Given the description of an element on the screen output the (x, y) to click on. 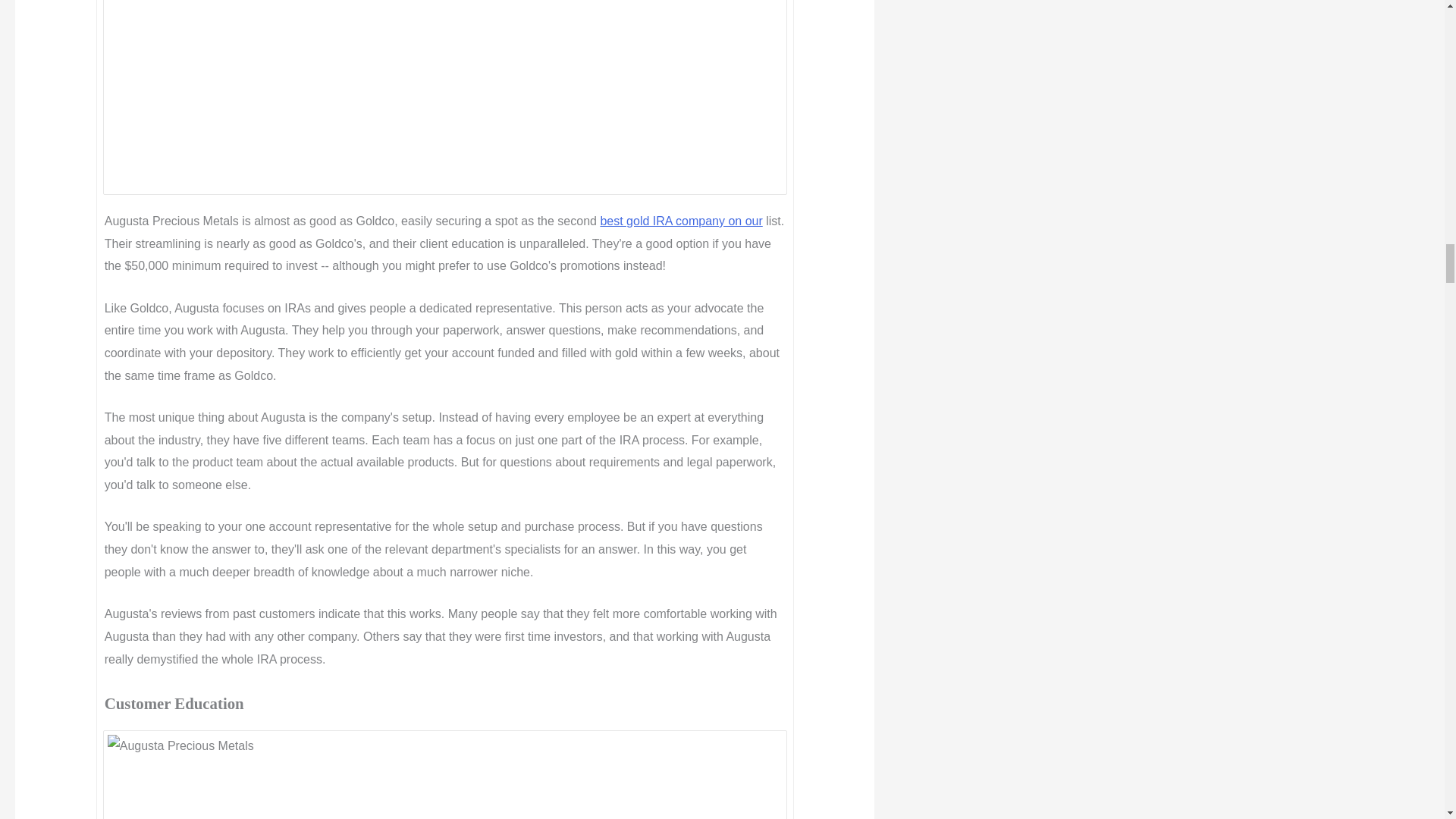
Augusta Precious Metals (445, 95)
best gold IRA company on our (680, 220)
Augusta Precious Metals (445, 776)
